Given the description of an element on the screen output the (x, y) to click on. 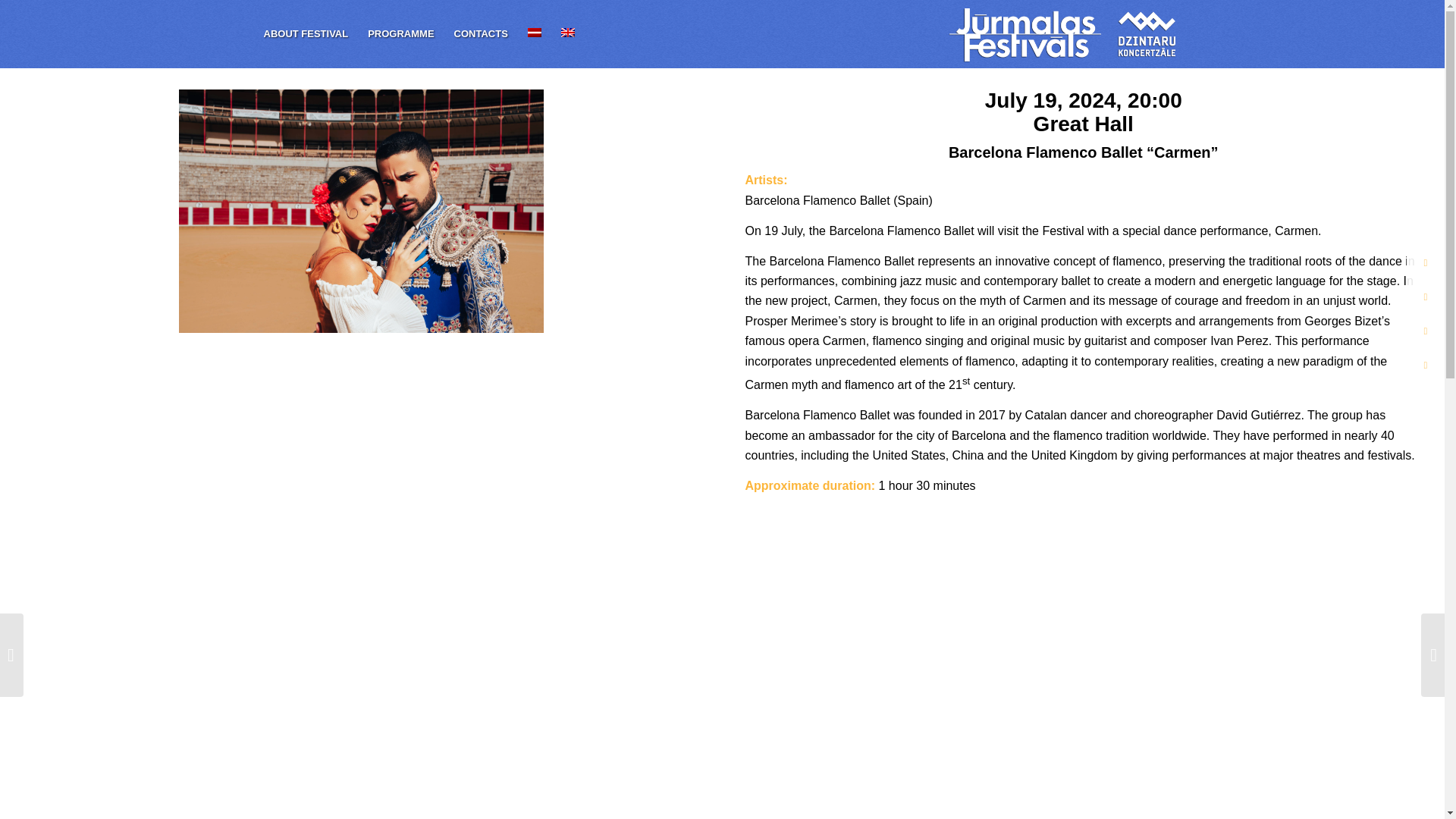
ABOUT FESTIVAL (305, 33)
PROGRAMME (401, 33)
English (567, 31)
481x325 (361, 210)
CONTACTS (481, 33)
